Given the description of an element on the screen output the (x, y) to click on. 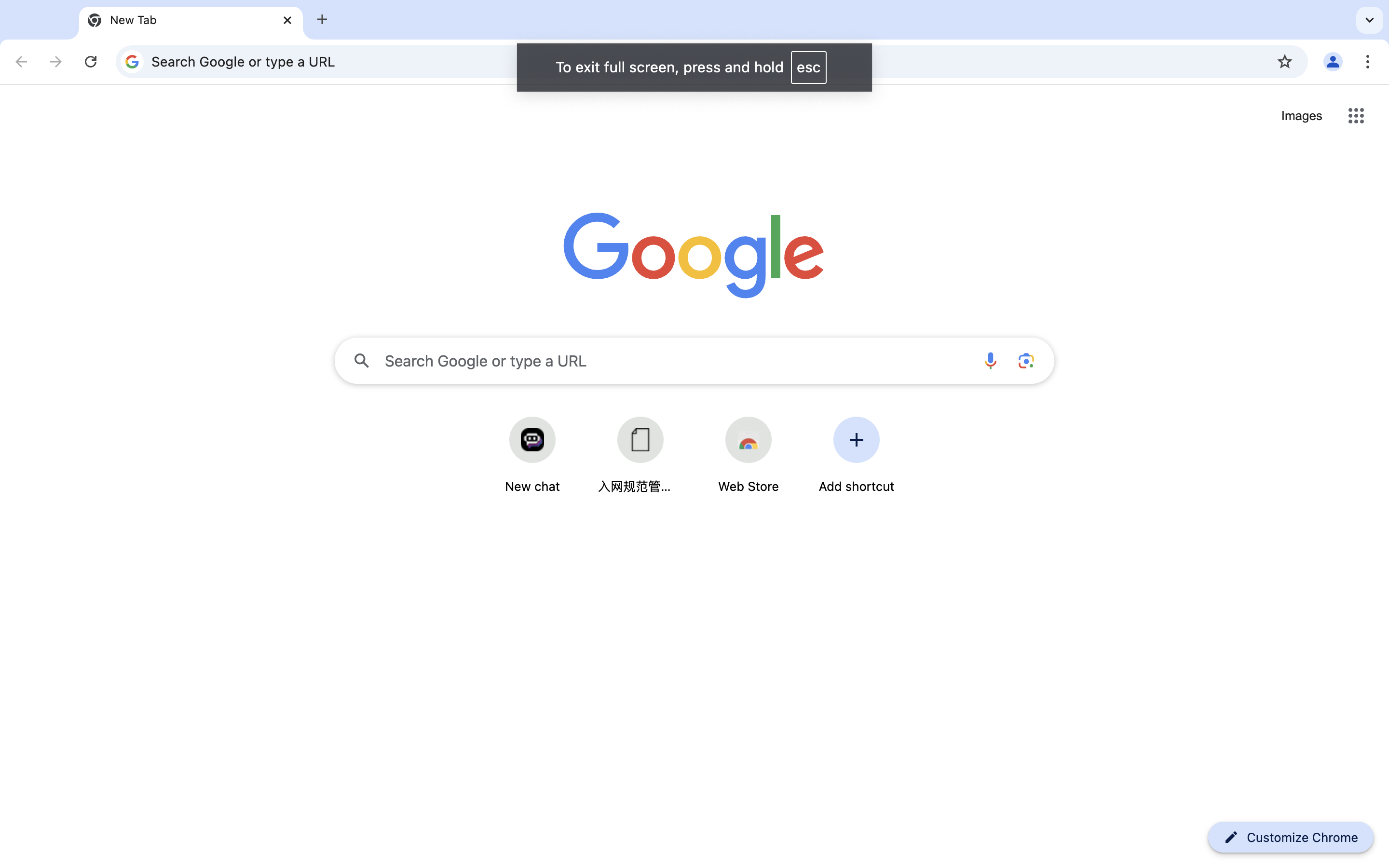
Images Element type: AXStaticText (1301, 115)
Add shortcut Element type: AXButton (856, 455)
Customize Chrome Element type: AXStaticText (1302, 837)
